Given the description of an element on the screen output the (x, y) to click on. 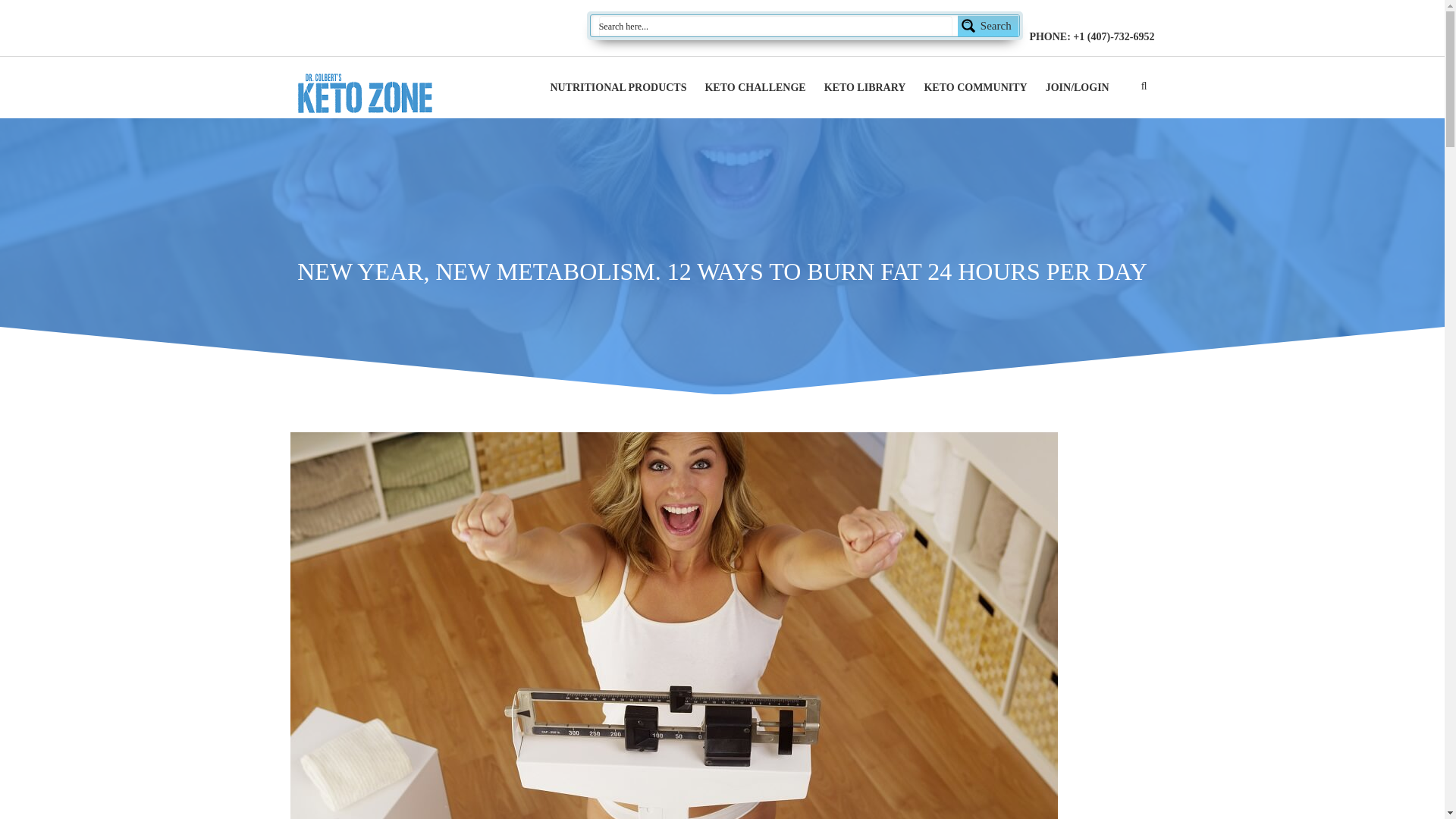
KETO COMMUNITY (974, 87)
KETO CHALLENGE (754, 87)
KETO LIBRARY (864, 87)
NUTRITIONAL PRODUCTS (617, 87)
Search (804, 25)
